Given the description of an element on the screen output the (x, y) to click on. 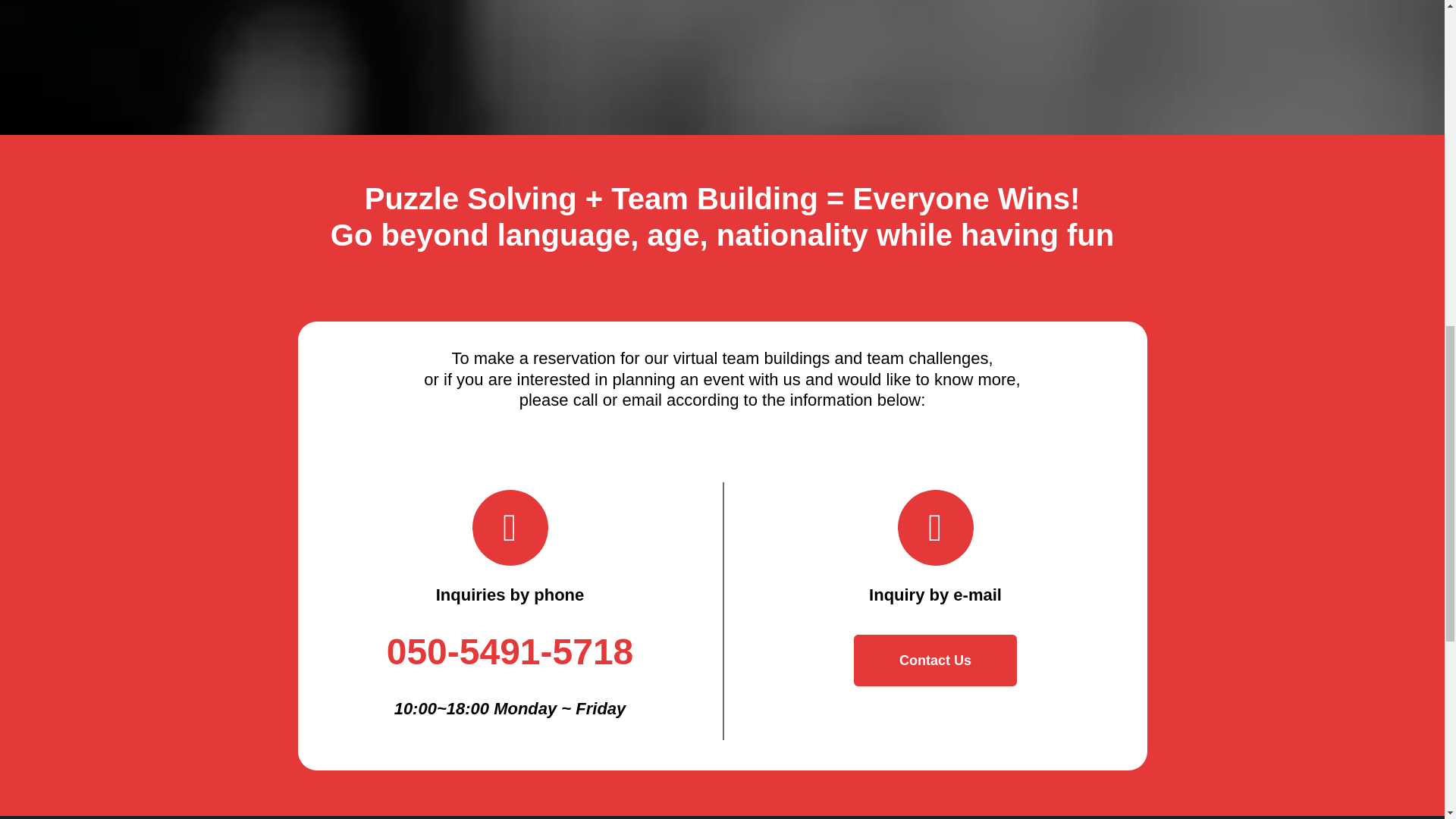
050-5491-5718 (510, 651)
Contact Us (935, 660)
